Given the description of an element on the screen output the (x, y) to click on. 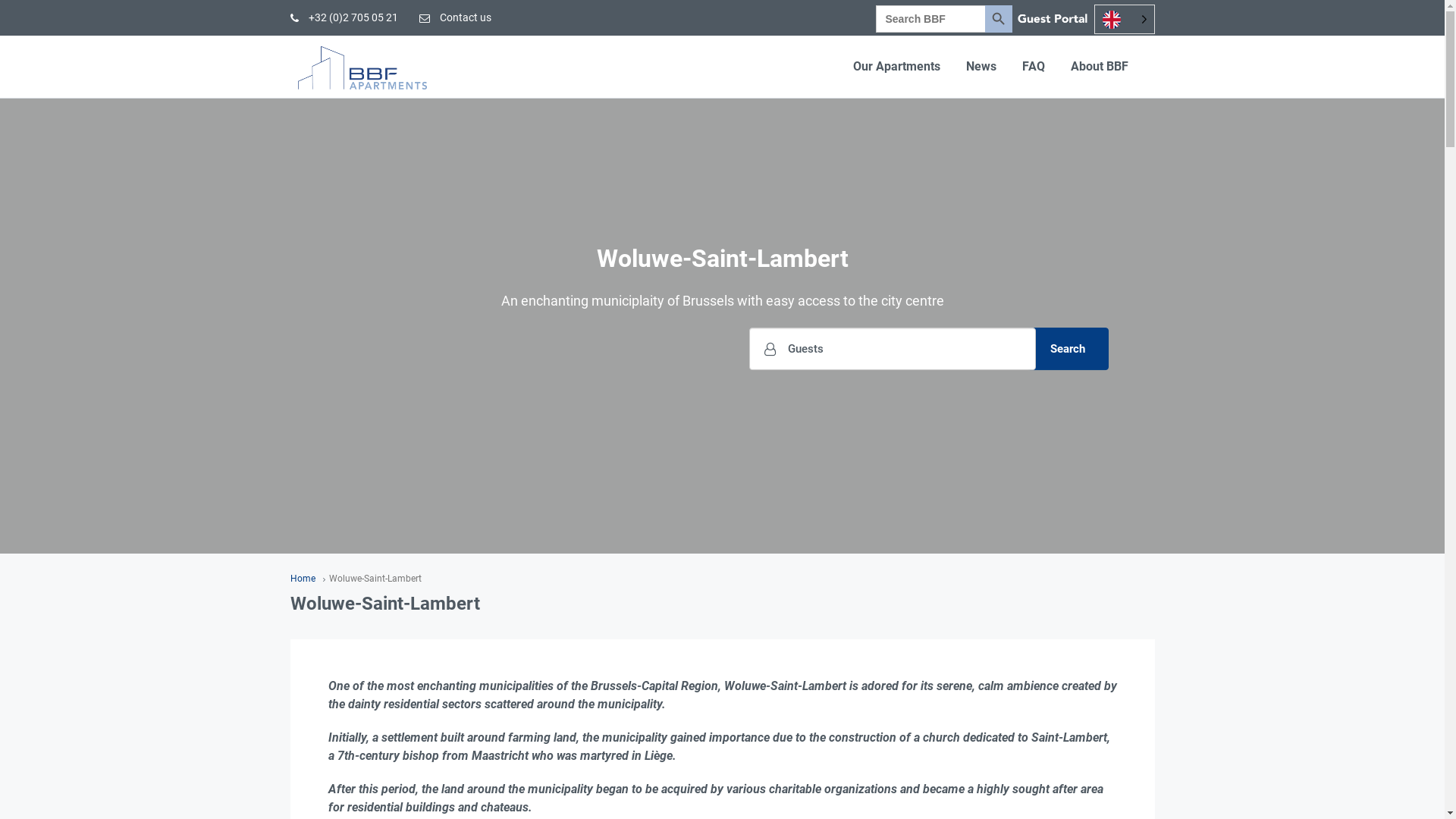
Home Element type: text (301, 578)
BBF Apartments - BBF Apartments Element type: hover (361, 67)
About BBF Element type: text (1098, 66)
FAQ Element type: text (1032, 66)
News Element type: text (980, 66)
Search Element type: text (1067, 348)
+32 (0)2 705 05 21 Element type: text (343, 17)
Our Apartments Element type: text (896, 66)
Contact us Element type: text (454, 17)
Search Button Element type: text (997, 18)
